Given the description of an element on the screen output the (x, y) to click on. 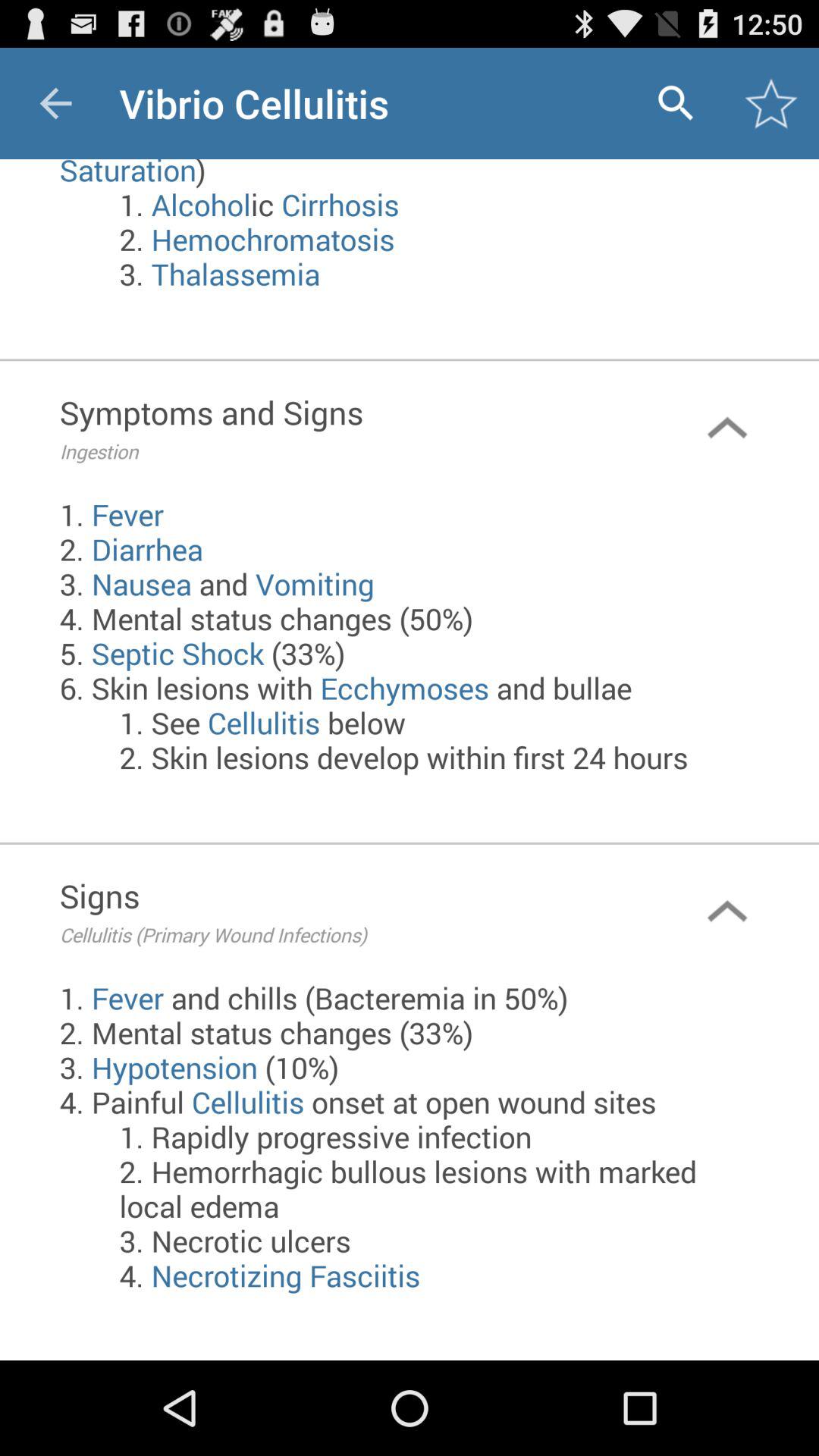
launch icon next to the vibrio cellulitis item (675, 103)
